Given the description of an element on the screen output the (x, y) to click on. 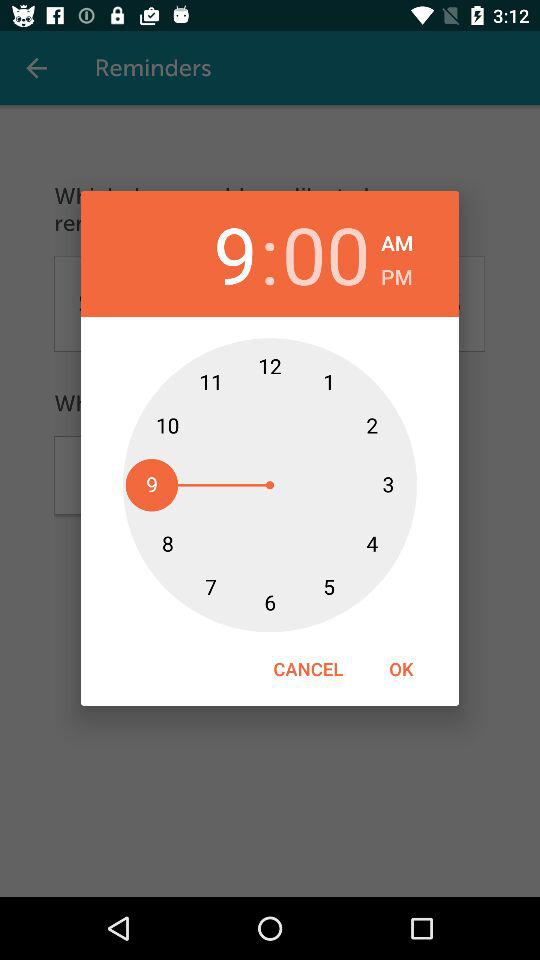
open icon to the right of the 00 icon (397, 240)
